Given the description of an element on the screen output the (x, y) to click on. 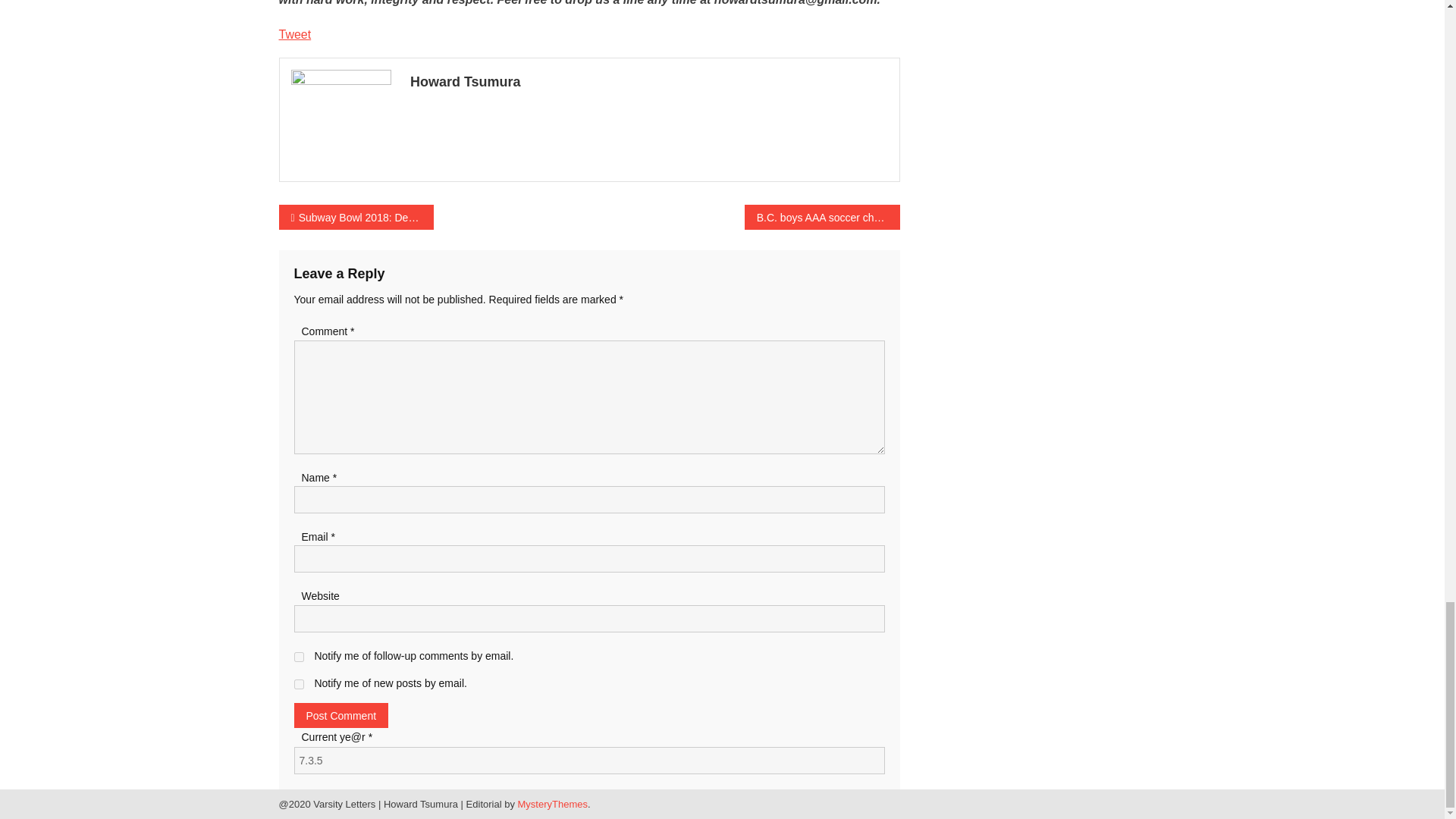
subscribe (299, 656)
subscribe (299, 684)
7.3.5 (589, 759)
Post Comment (341, 715)
